Given the description of an element on the screen output the (x, y) to click on. 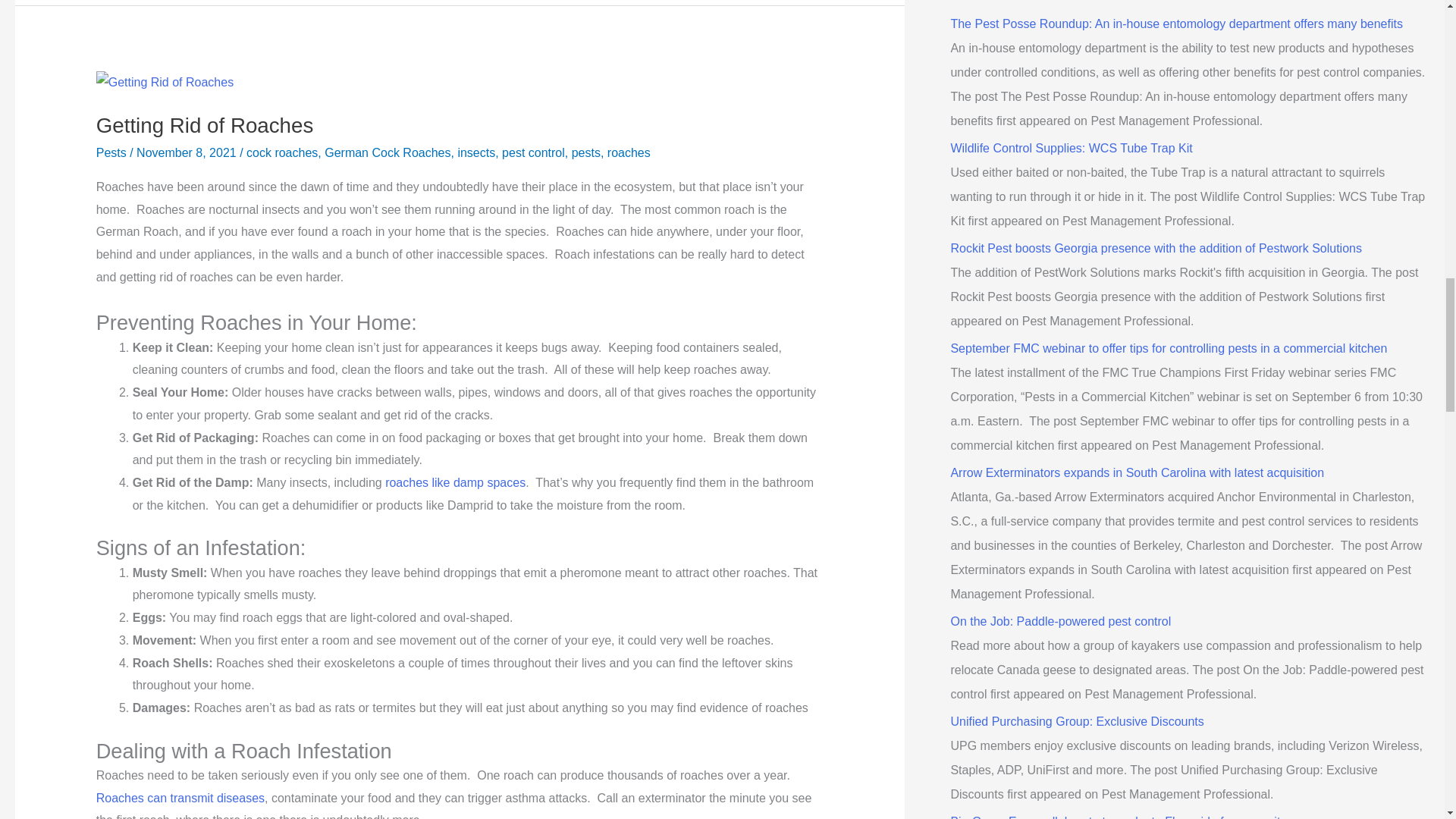
German Cock Roaches (386, 152)
Roaches can transmit diseases (180, 797)
pest control (533, 152)
Pests (111, 152)
pests (585, 152)
roaches (628, 152)
Getting Rid of Roaches (205, 125)
cock roaches (281, 152)
insects (476, 152)
roaches like damp spaces (455, 481)
